Given the description of an element on the screen output the (x, y) to click on. 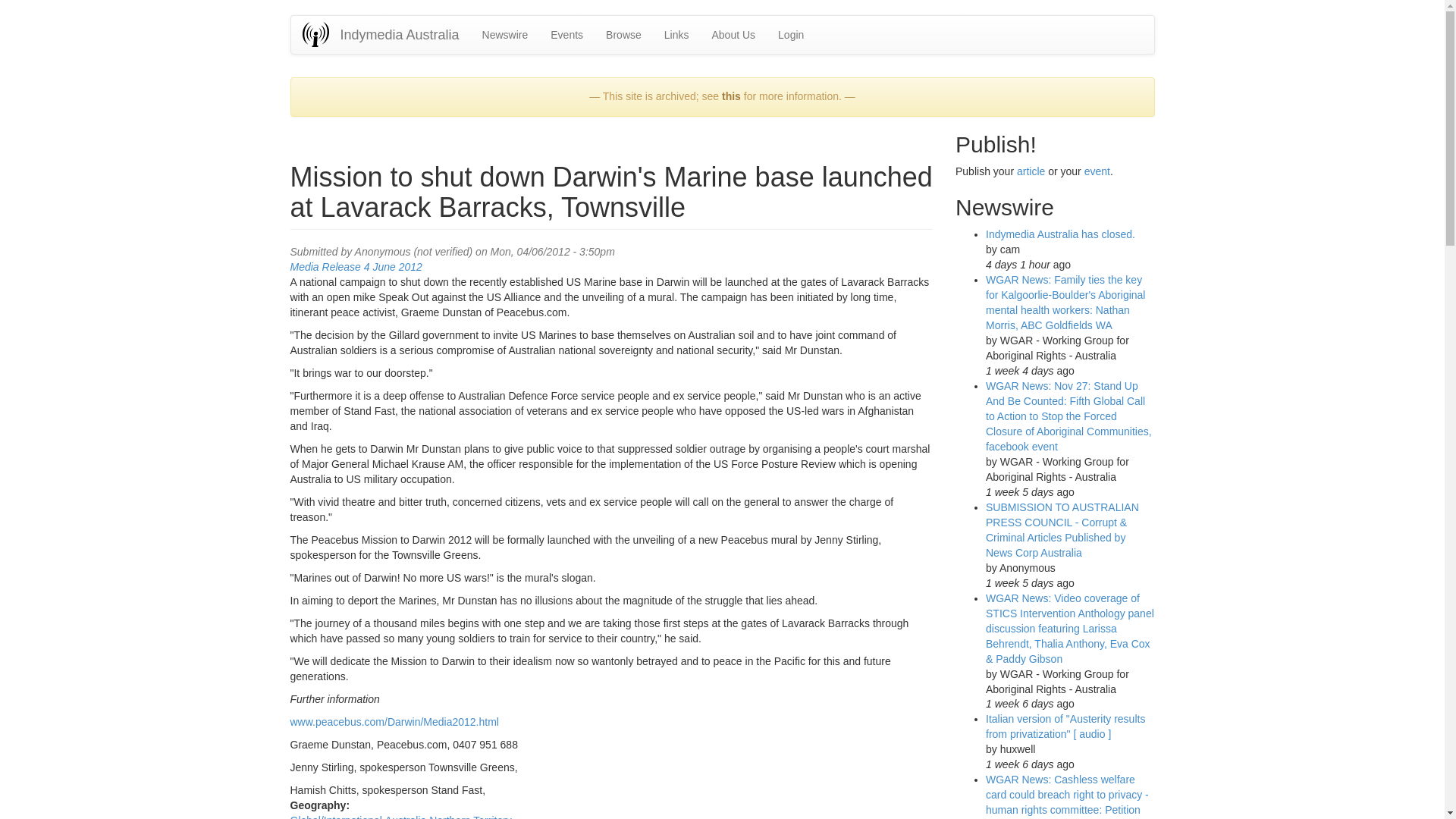
article (1030, 171)
this (731, 96)
Links to other Australian independent media (676, 34)
Links (676, 34)
Browse (623, 34)
Media Release 4 June 2012 (355, 266)
Home (399, 34)
Home (320, 34)
Northern Territory (470, 816)
